Given the description of an element on the screen output the (x, y) to click on. 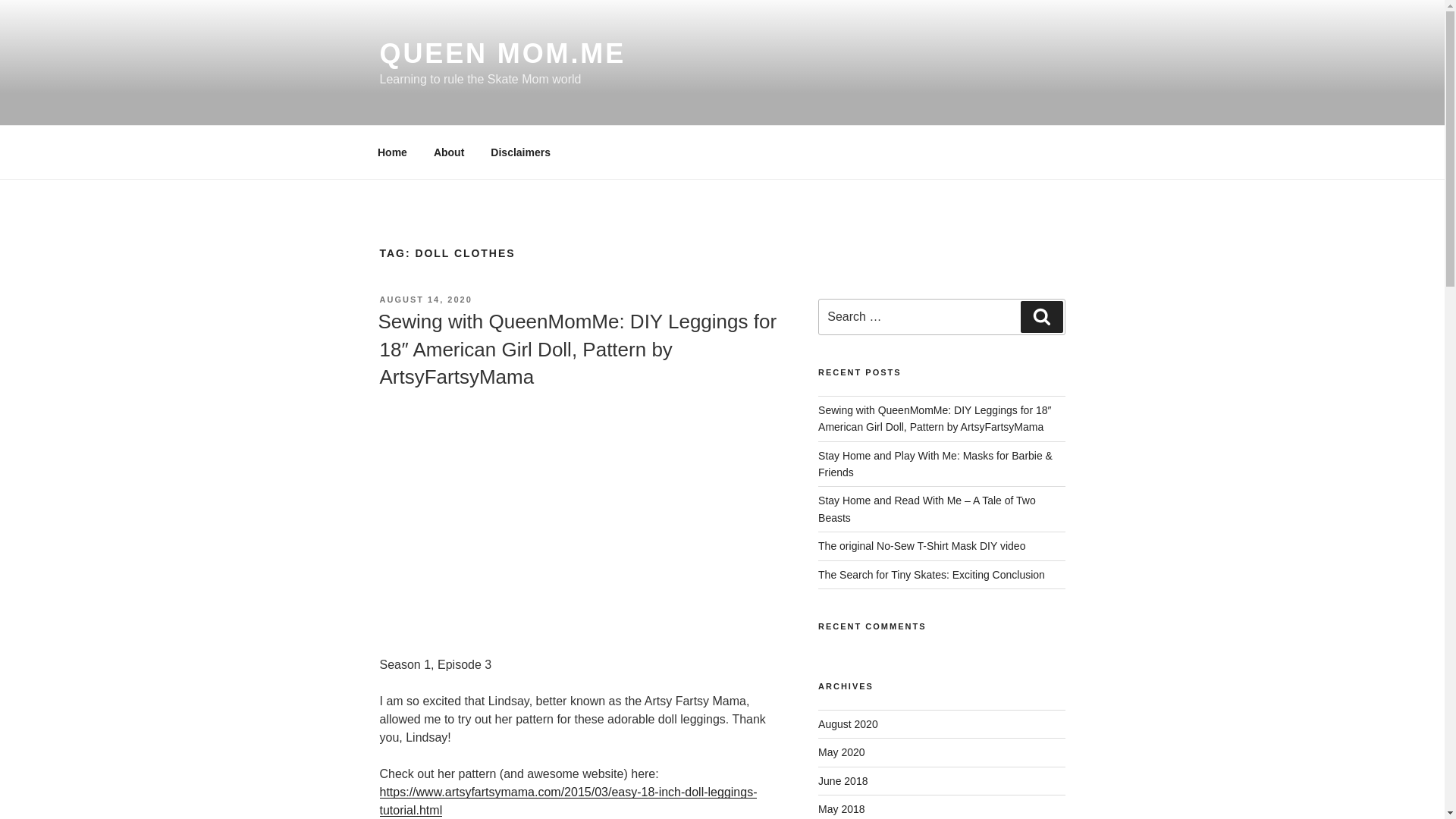
About (448, 151)
The Search for Tiny Skates: Exciting Conclusion (931, 574)
Disclaimers (520, 151)
May 2020 (841, 752)
August 2020 (847, 724)
QUEEN MOM.ME (502, 52)
Home (392, 151)
May 2018 (841, 808)
AUGUST 14, 2020 (424, 298)
The original No-Sew T-Shirt Mask DIY video (921, 545)
June 2018 (842, 780)
Search (1041, 316)
